Given the description of an element on the screen output the (x, y) to click on. 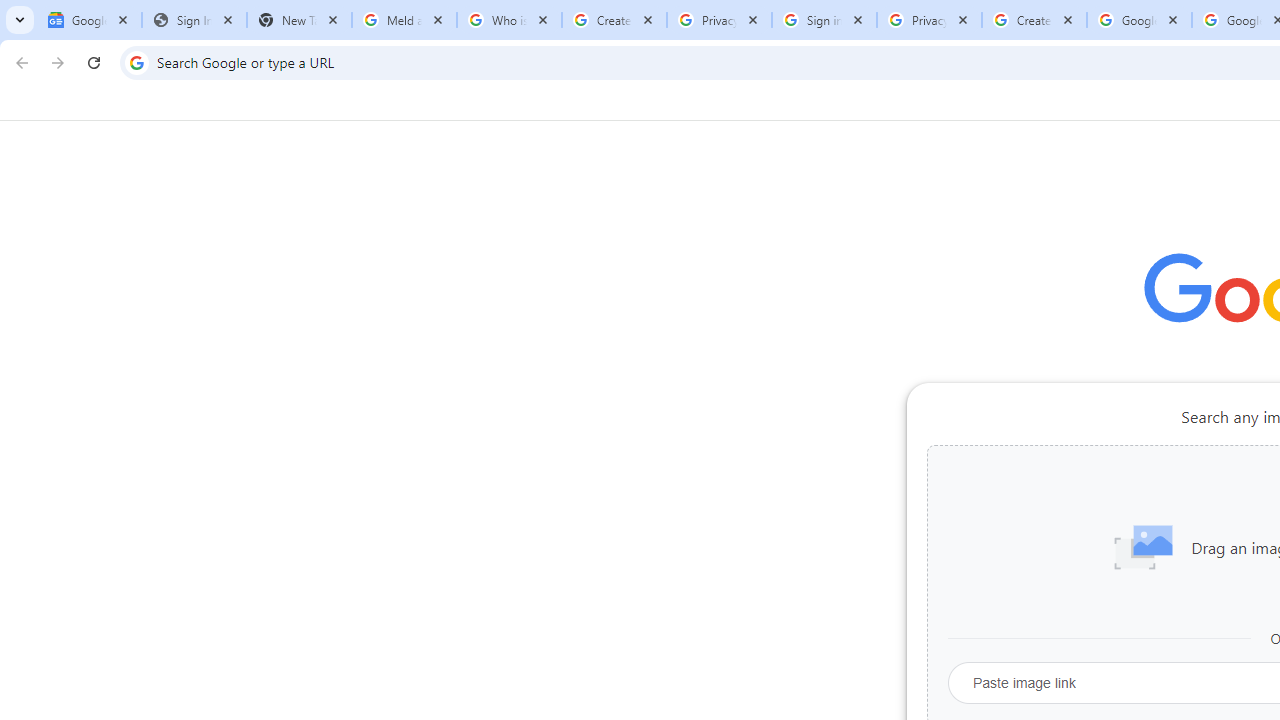
Sign in - Google Accounts (823, 20)
More actions for Chrome Web Store shortcut (1208, 466)
Google News (89, 20)
Create your Google Account (613, 20)
